Given the description of an element on the screen output the (x, y) to click on. 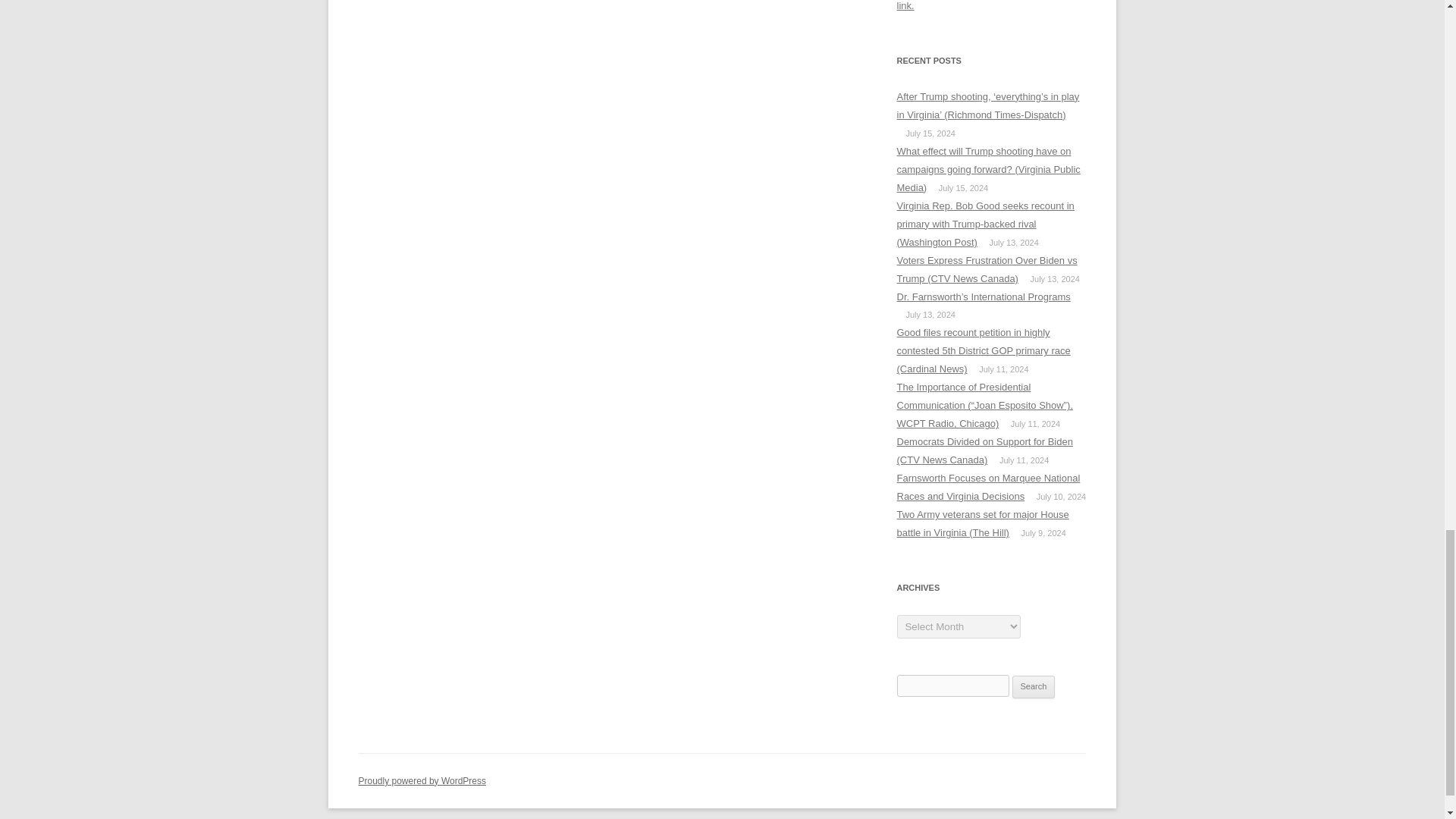
contribution link. (985, 5)
Semantic Personal Publishing Platform (422, 780)
Search (1033, 686)
